Given the description of an element on the screen output the (x, y) to click on. 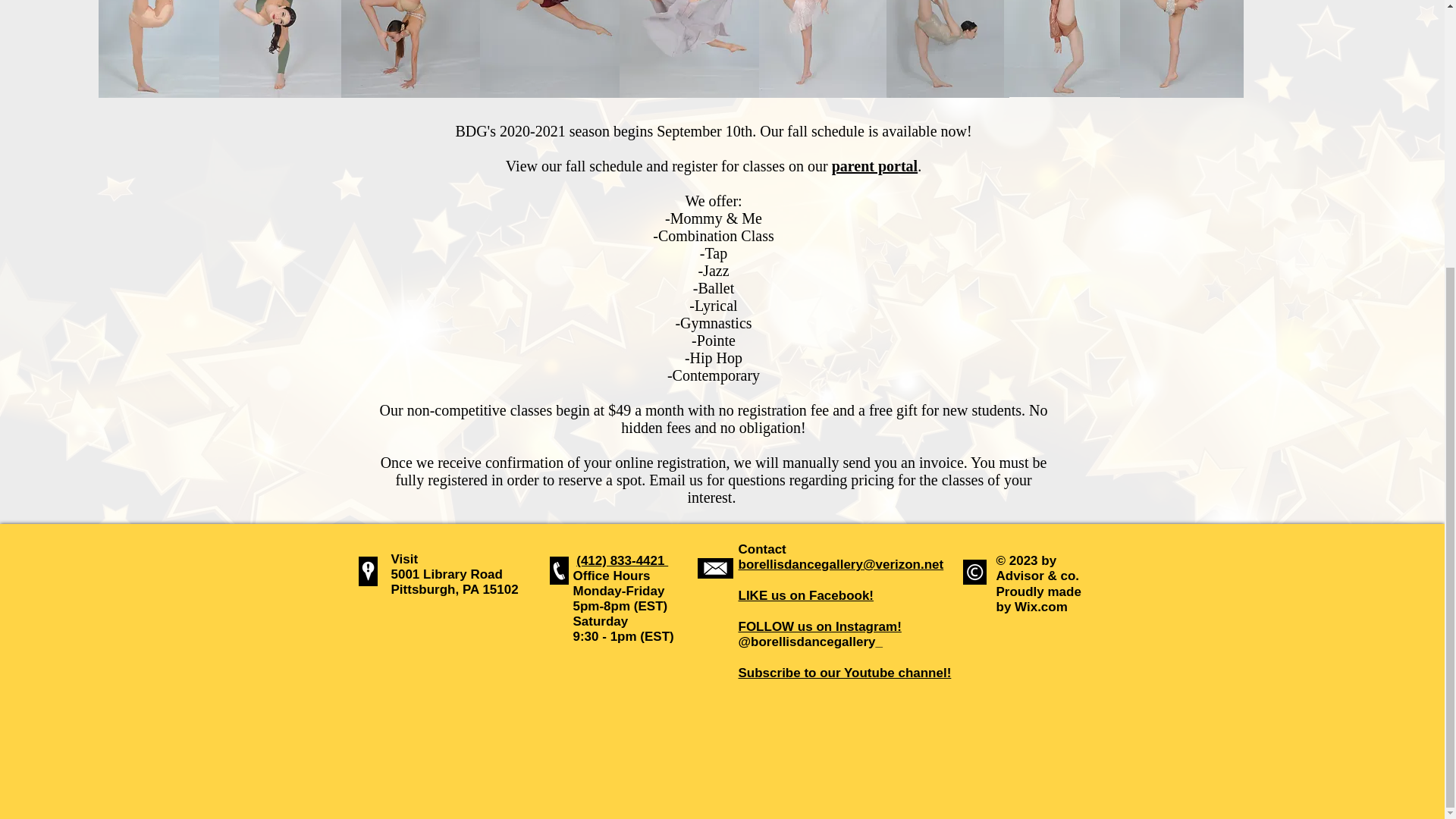
FOLLOW us on Instagram! (819, 626)
Subscribe to our Youtube channel! (845, 672)
LIKE us on Facebook! (806, 595)
Wix.com (1040, 606)
parent portal (874, 166)
